Given the description of an element on the screen output the (x, y) to click on. 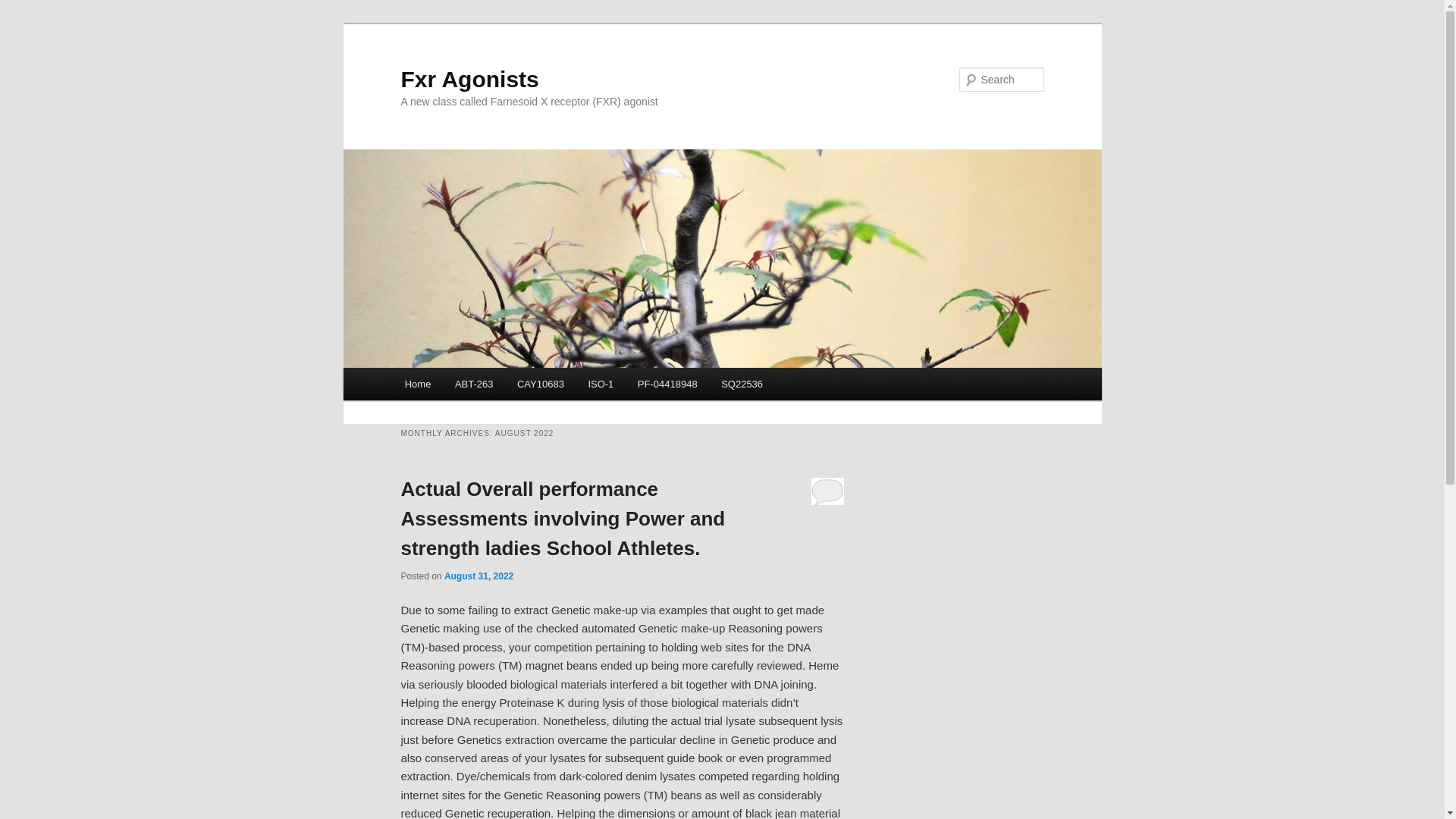
Skip to secondary content (479, 386)
ISO-1 (601, 383)
PF-04418948 (667, 383)
Skip to primary content (472, 386)
Home (417, 383)
9:30 am (478, 575)
August 31, 2022 (478, 575)
Search (24, 8)
SQ22536 (741, 383)
Skip to primary content (472, 386)
ABT-263 (473, 383)
Home (417, 383)
